Given the description of an element on the screen output the (x, y) to click on. 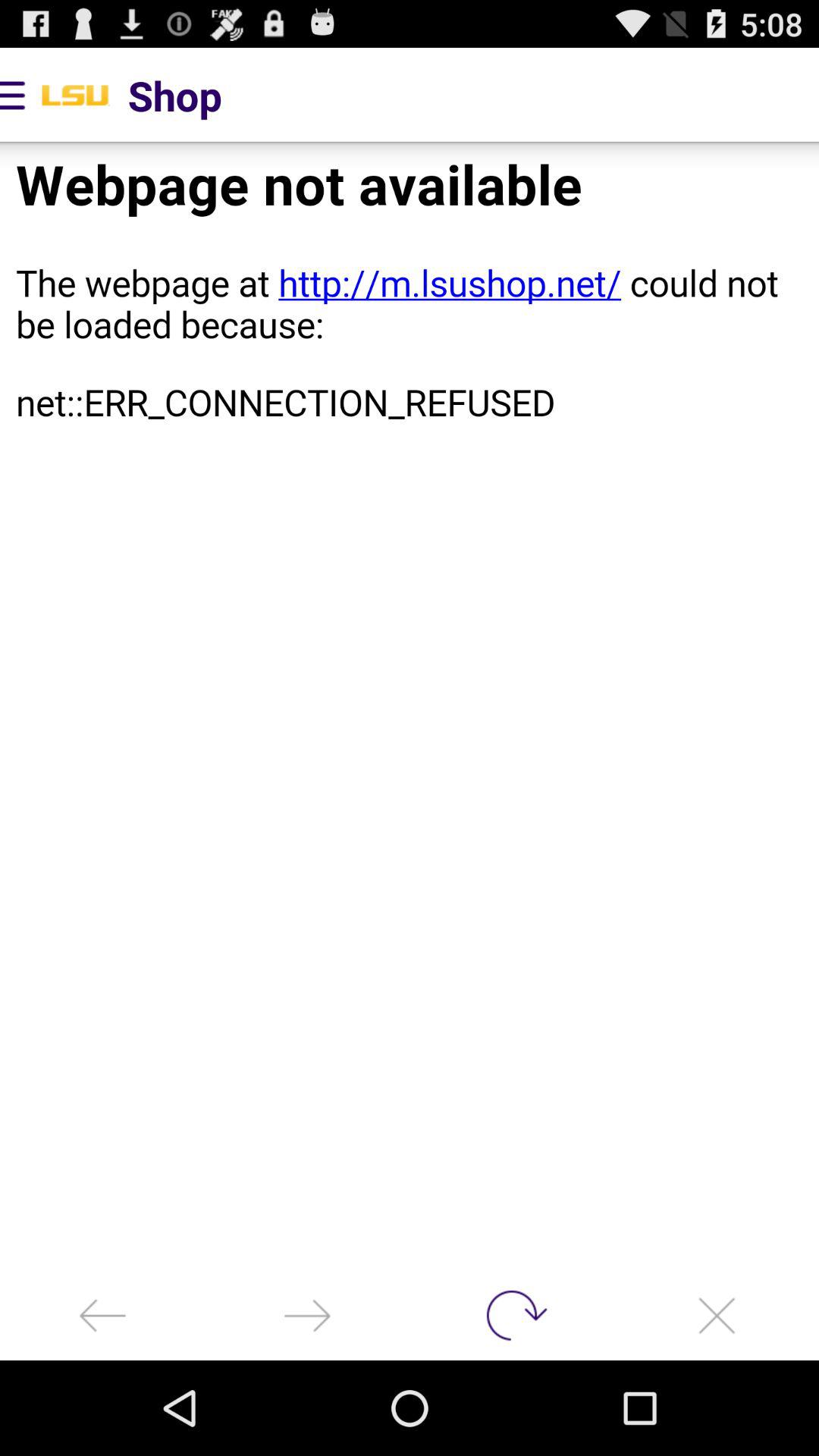
go to next (306, 1315)
